Given the description of an element on the screen output the (x, y) to click on. 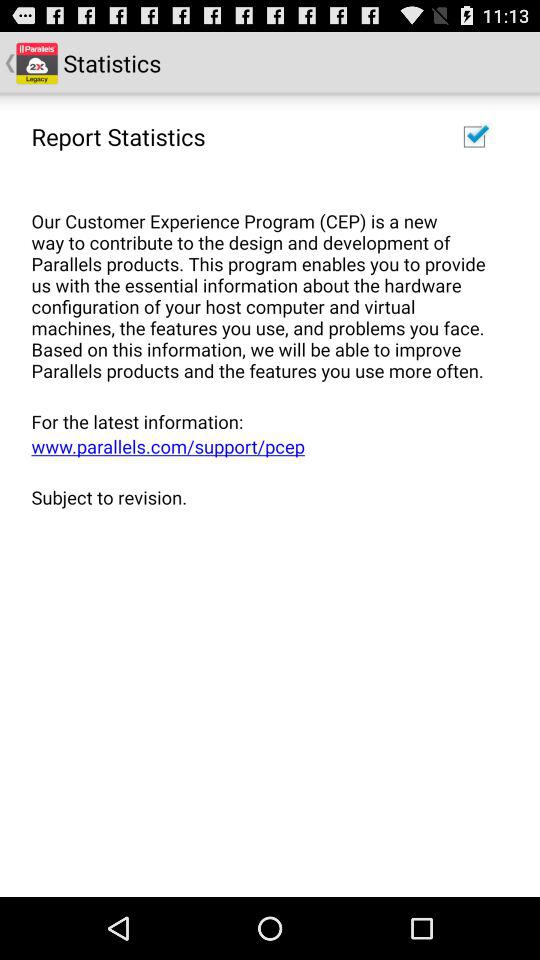
click item above our customer experience (474, 136)
